Given the description of an element on the screen output the (x, y) to click on. 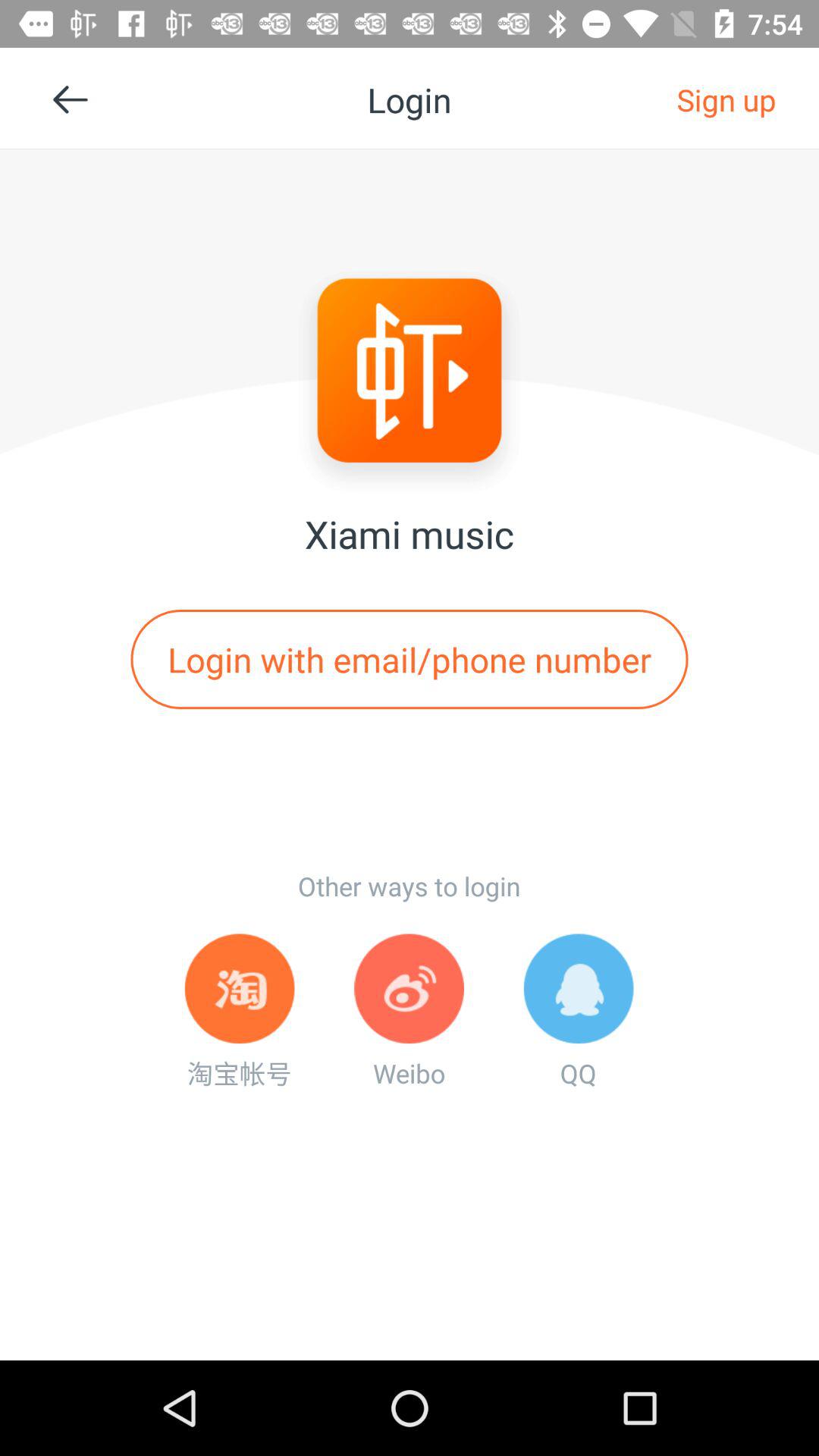
choose item to the right of weibo (578, 1011)
